Given the description of an element on the screen output the (x, y) to click on. 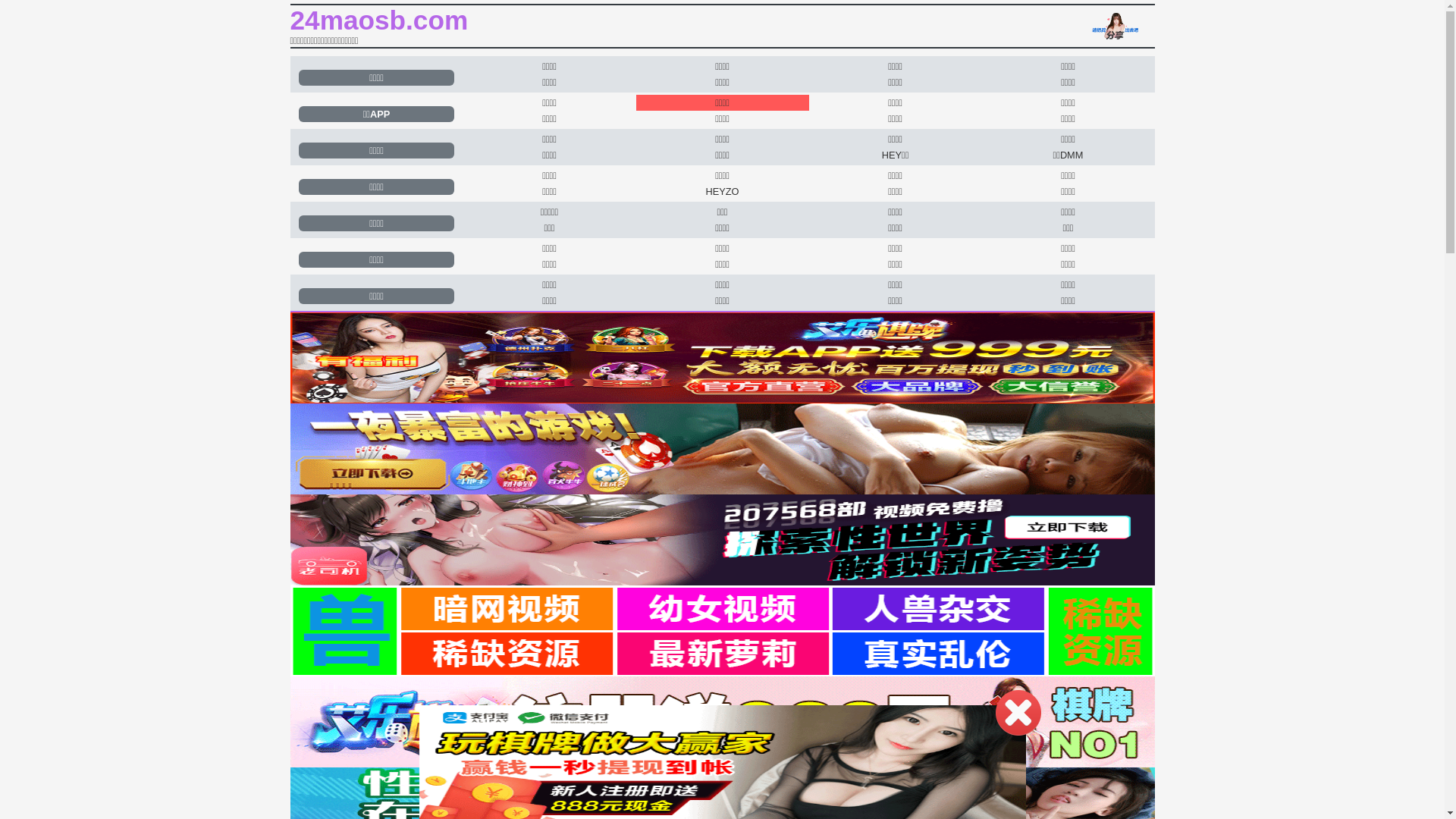
HEYZO Element type: text (722, 191)
